Given the description of an element on the screen output the (x, y) to click on. 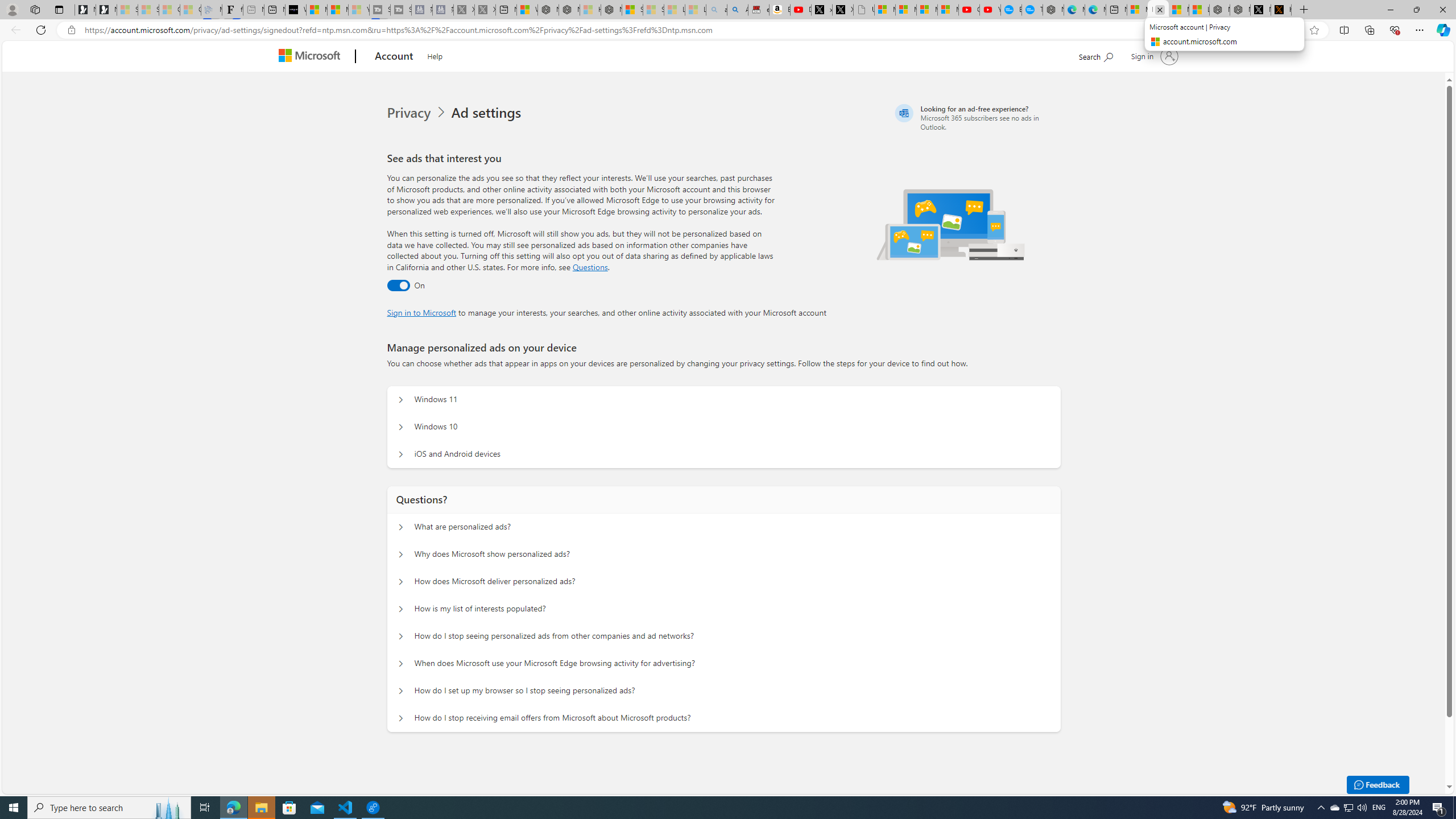
Manage personalized ads on your device Windows 11 (401, 400)
